Given the description of an element on the screen output the (x, y) to click on. 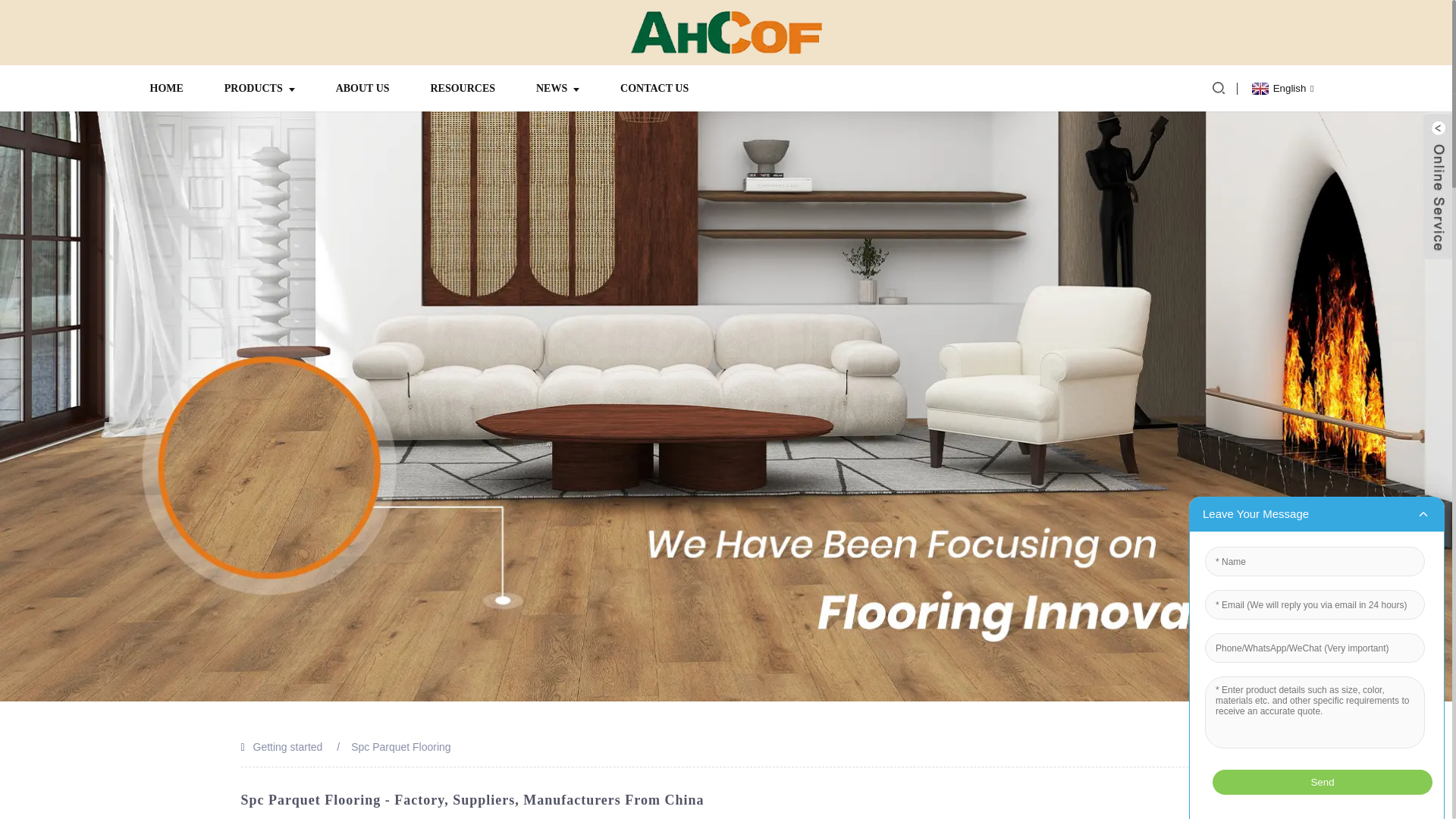
ABOUT US (362, 88)
English (1280, 88)
Getting started (288, 746)
PRODUCTS (258, 88)
Spc Parquet Flooring (400, 746)
NEWS (557, 88)
CONTACT US (654, 88)
HOME (165, 88)
RESOURCES (462, 88)
